Given the description of an element on the screen output the (x, y) to click on. 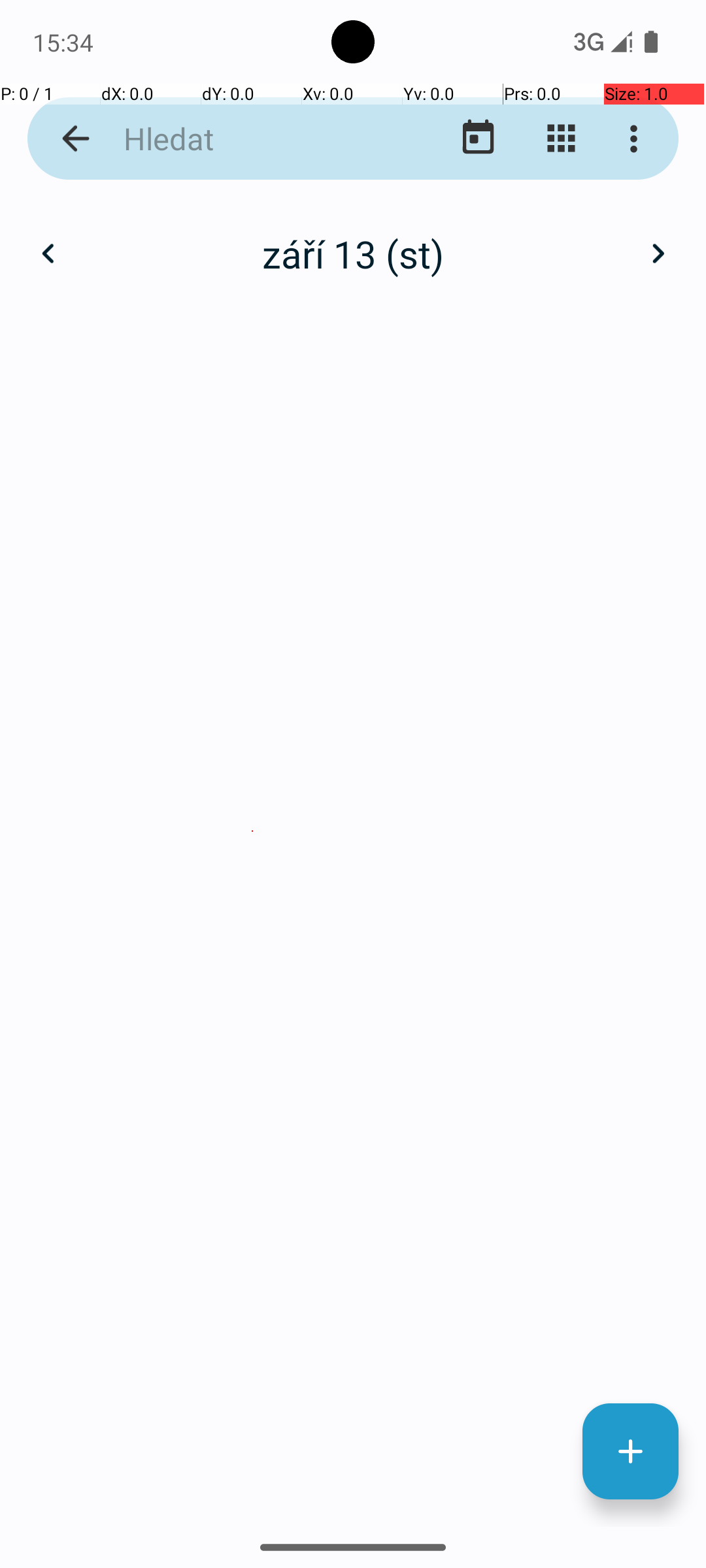
Hledat Element type: android.widget.EditText (252, 138)
Přejít na dnešní datum Element type: android.widget.Button (477, 138)
Změnit zobrazení Element type: android.widget.Button (560, 138)
Další možnosti Element type: android.widget.ImageView (636, 138)
Nová událost Element type: android.widget.ImageButton (630, 1451)
září 13 (st) Element type: android.widget.TextView (352, 253)
září Element type: android.widget.TextView (352, 239)
